Given the description of an element on the screen output the (x, y) to click on. 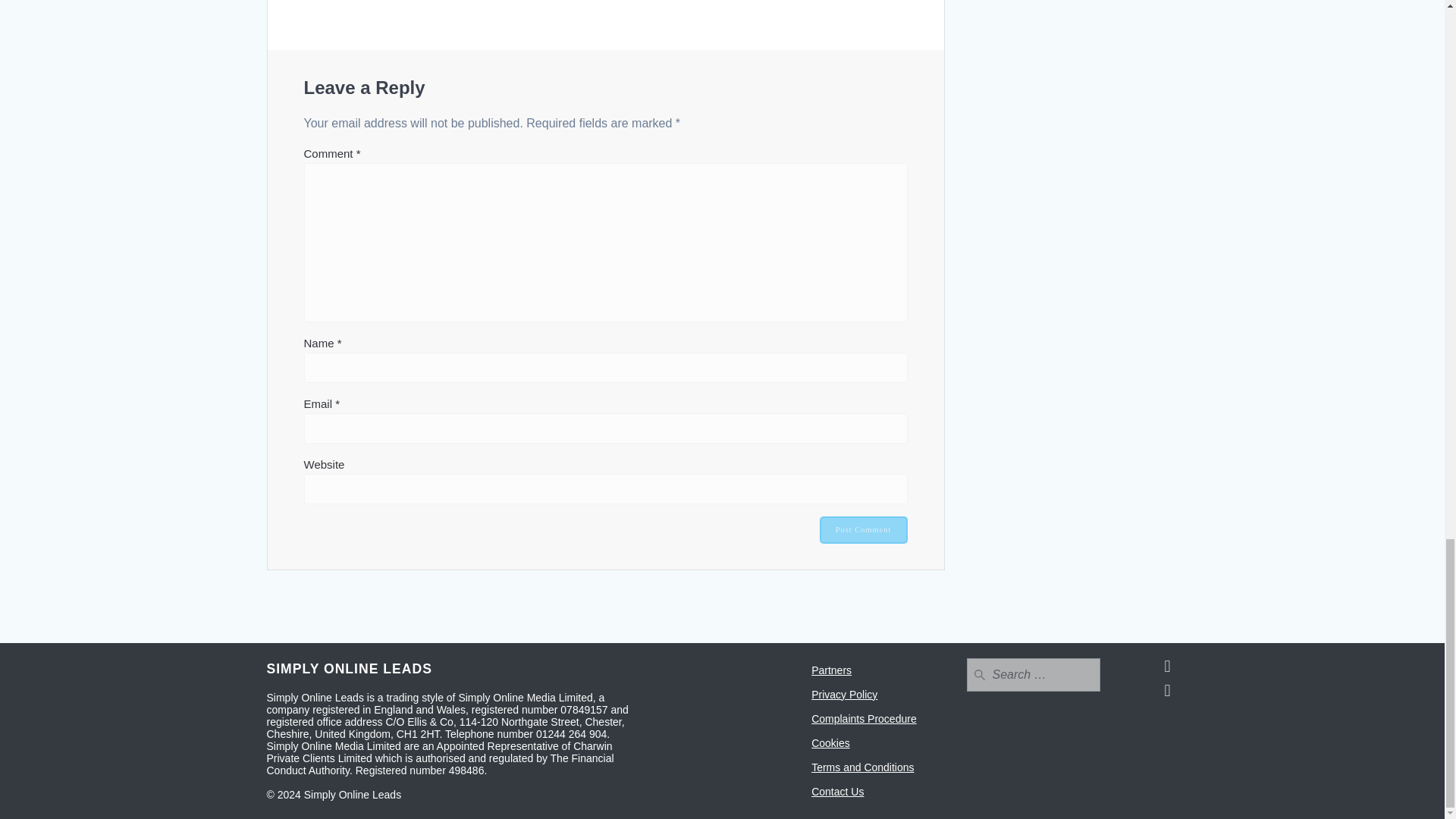
Post Comment (863, 529)
Post Comment (863, 529)
